Given the description of an element on the screen output the (x, y) to click on. 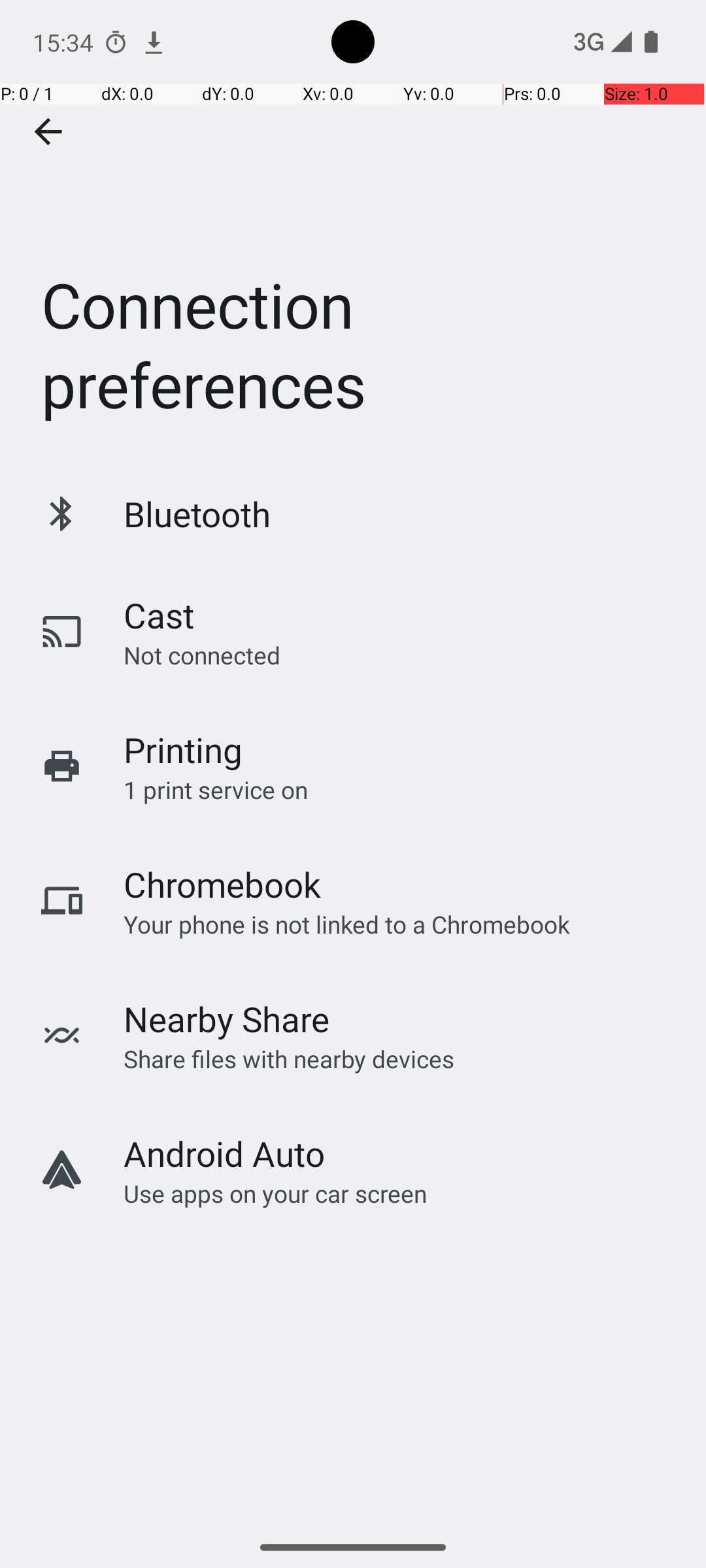
Cast Element type: android.widget.TextView (158, 614)
Not connected Element type: android.widget.TextView (201, 654)
Printing Element type: android.widget.TextView (182, 749)
1 print service on Element type: android.widget.TextView (215, 789)
Your phone is not linked to a Chromebook Element type: android.widget.TextView (346, 923)
Share files with nearby devices Element type: android.widget.TextView (288, 1058)
Use apps on your car screen Element type: android.widget.TextView (275, 1192)
